Given the description of an element on the screen output the (x, y) to click on. 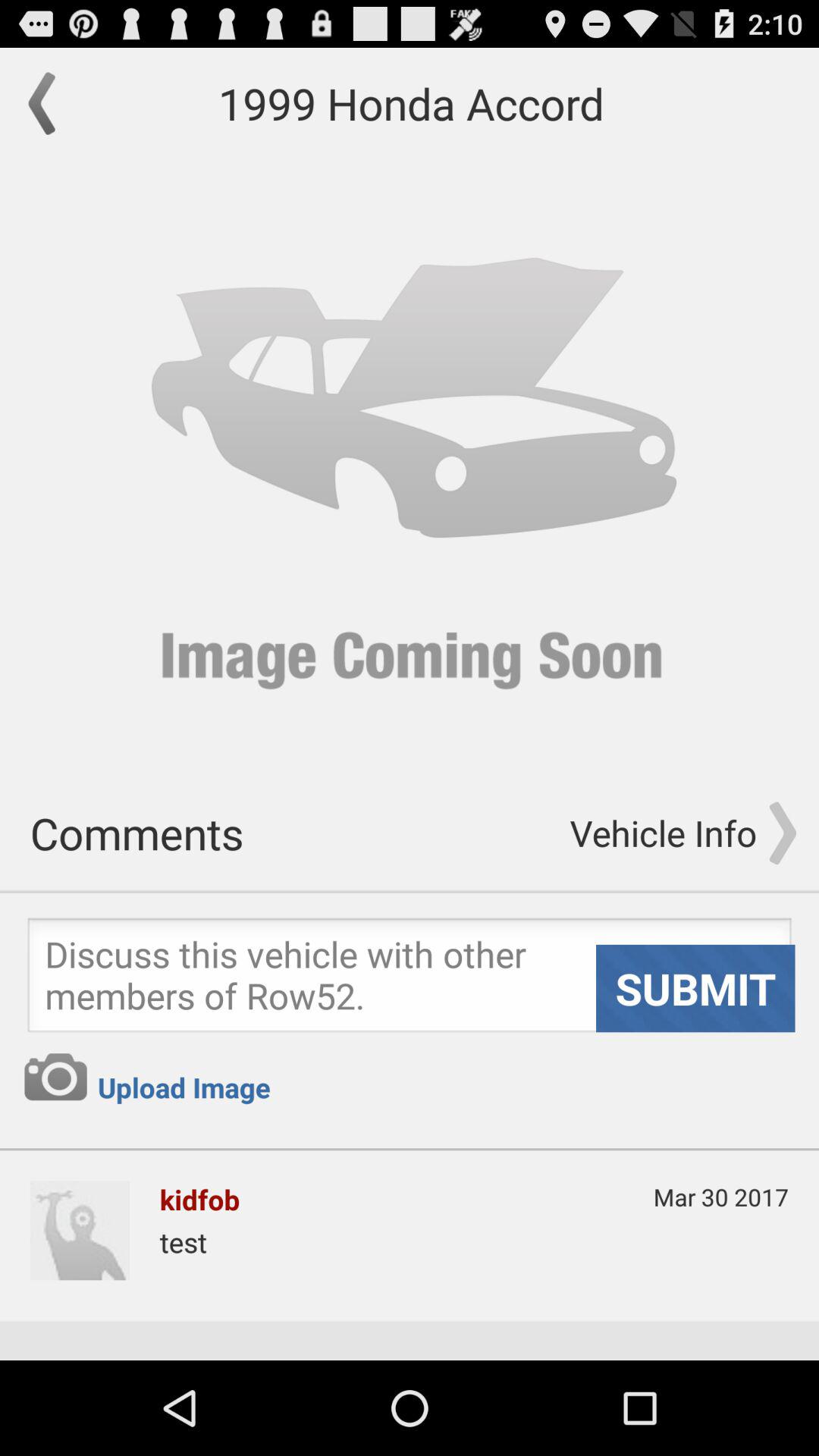
use camera (55, 1076)
